Given the description of an element on the screen output the (x, y) to click on. 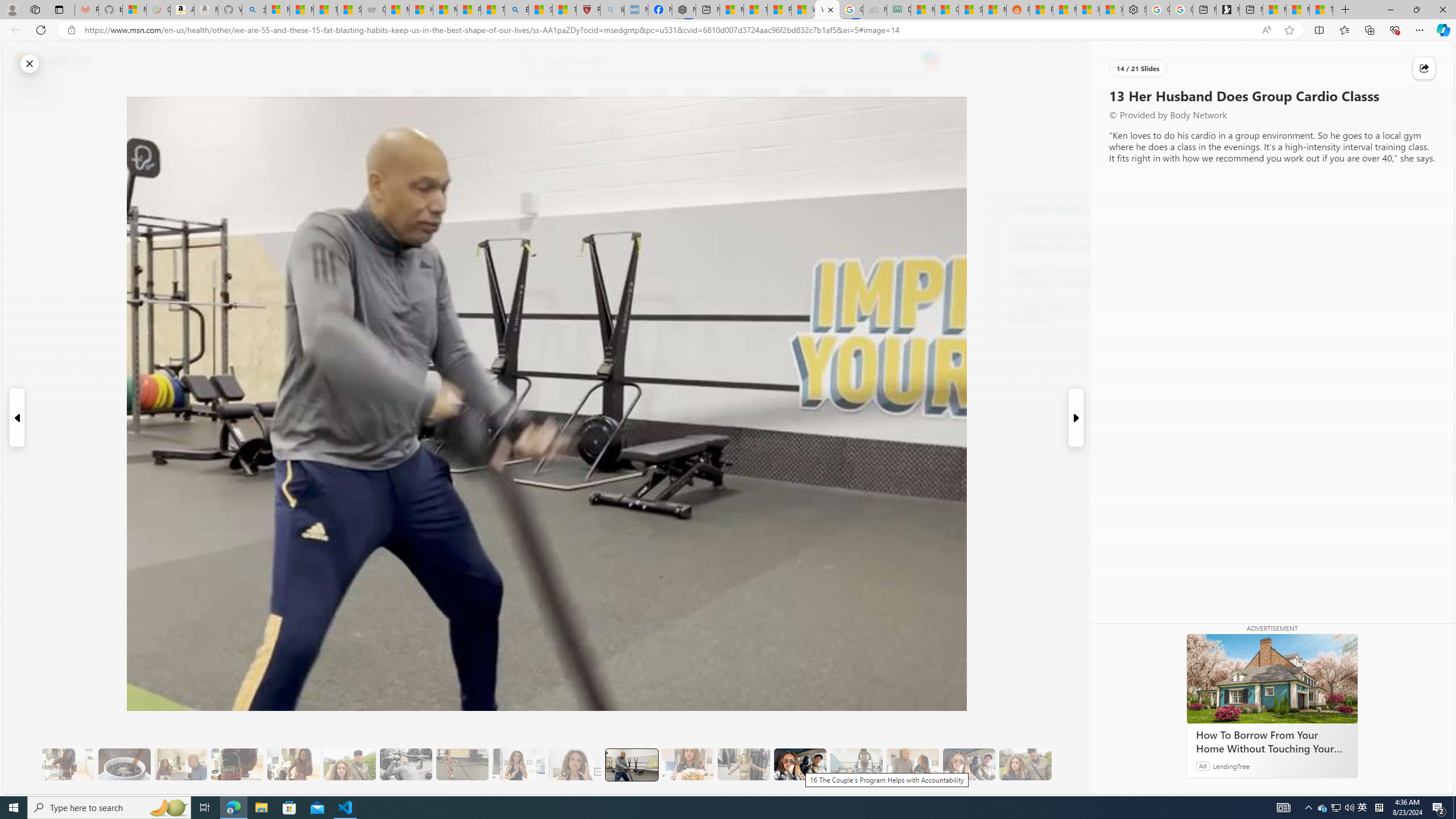
6 (299, 170)
MSNBC - MSN (922, 9)
3 They Drink Lemon Tea (68, 764)
See more (1149, 785)
Crime (657, 92)
Start the conversation (299, 202)
5 She Eats Less Than Her Husband (180, 764)
Nordace - Nordace Siena Is Not An Ordinary Backpack (683, 9)
14 Common Myths Debunked By Scientific Facts (754, 9)
Class: at-item (299, 266)
